Given the description of an element on the screen output the (x, y) to click on. 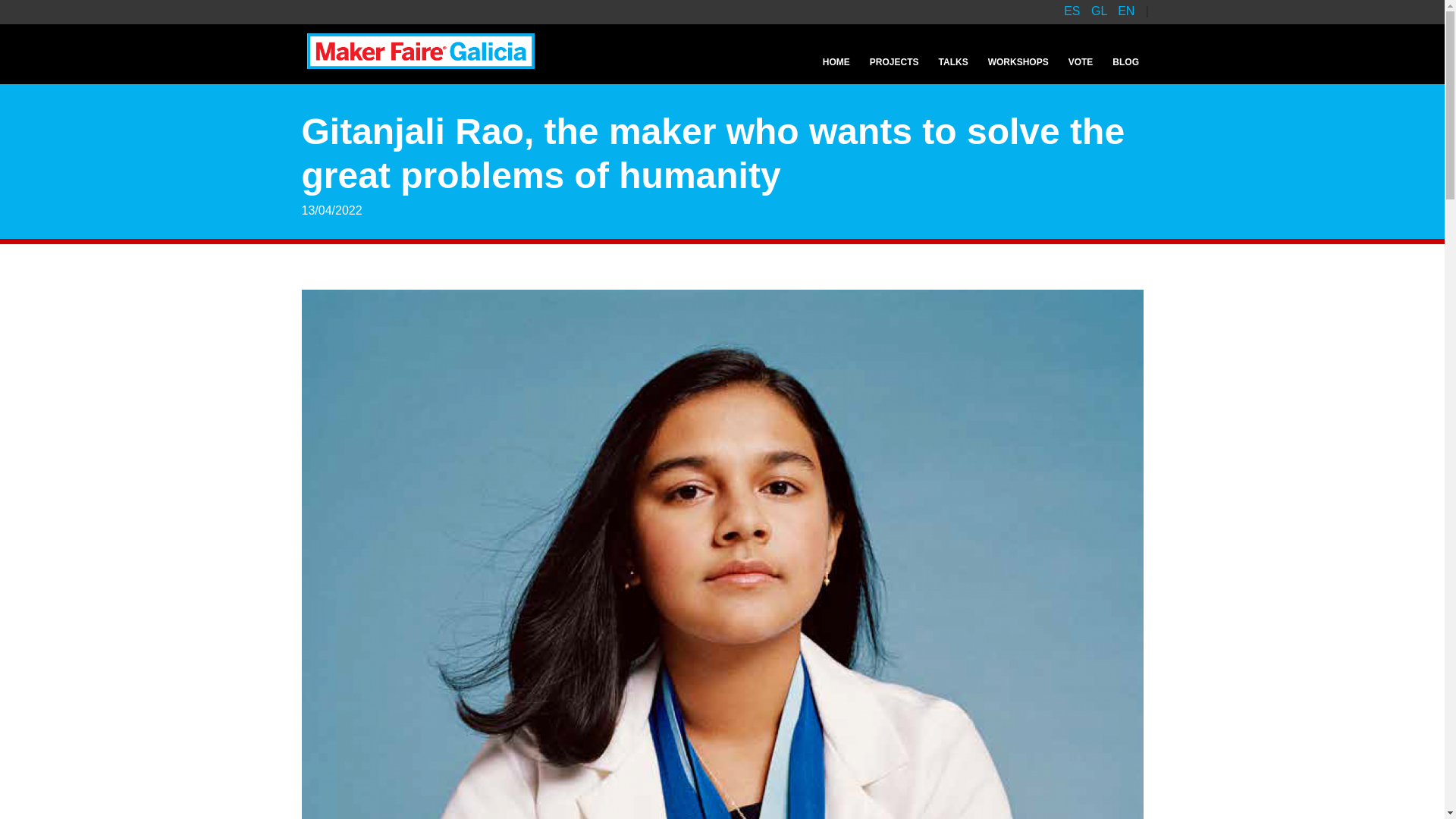
english (1128, 10)
PROJECTS (894, 61)
WORKSHOPS (1018, 61)
Projects (894, 61)
Workshops (1018, 61)
GL (1099, 10)
EN (1128, 10)
Maker Faire Galicia (425, 50)
galego (1099, 10)
ES (1073, 10)
